Given the description of an element on the screen output the (x, y) to click on. 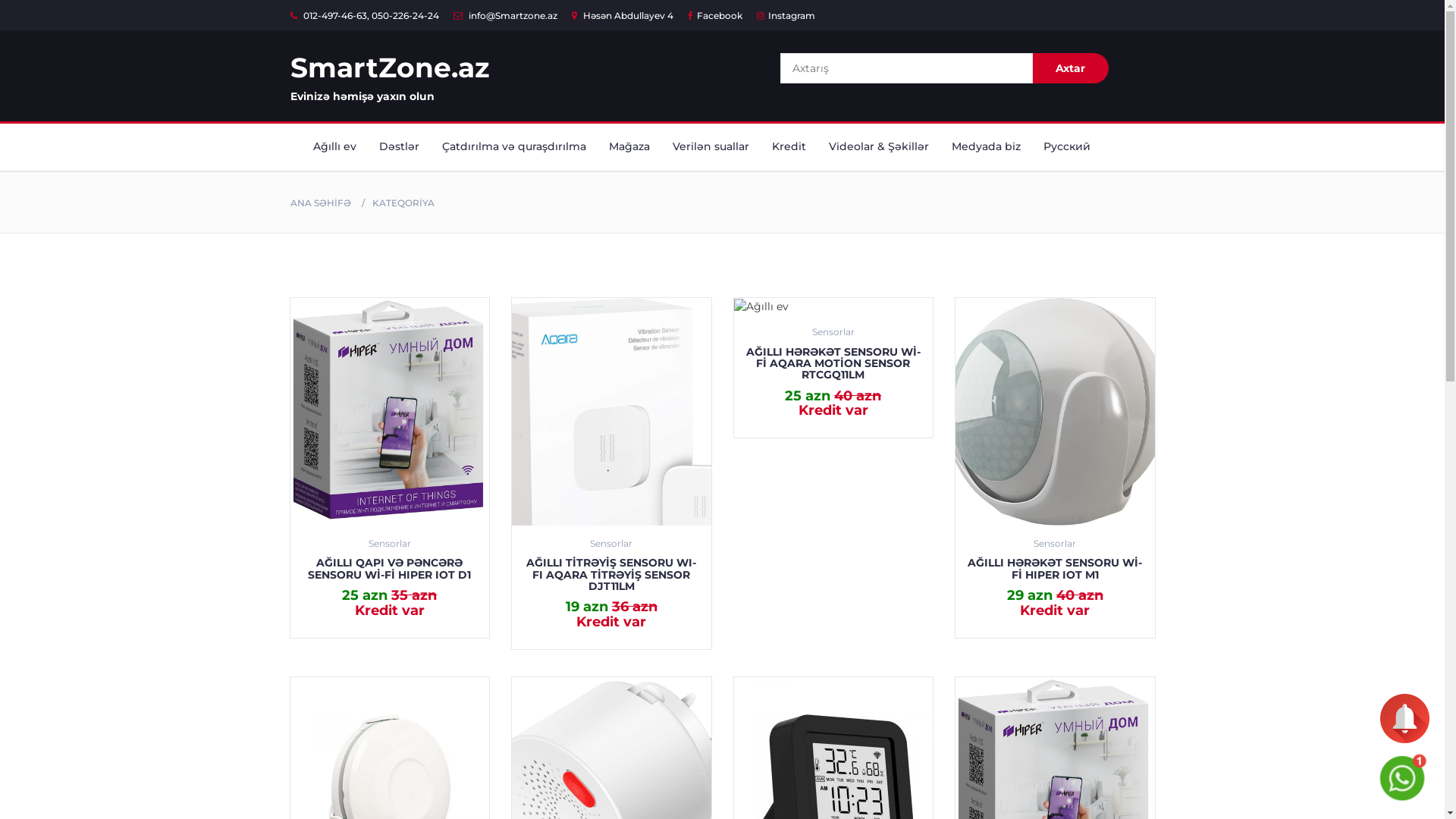
Medyada biz Element type: text (984, 146)
Axtar Element type: text (1070, 68)
Facebook Element type: text (714, 15)
Kredit Element type: text (788, 146)
Instagram Element type: text (785, 15)
012-497-46-63, 050-226-24-24 Element type: text (363, 15)
info@Smartzone.az Element type: text (505, 15)
